Given the description of an element on the screen output the (x, y) to click on. 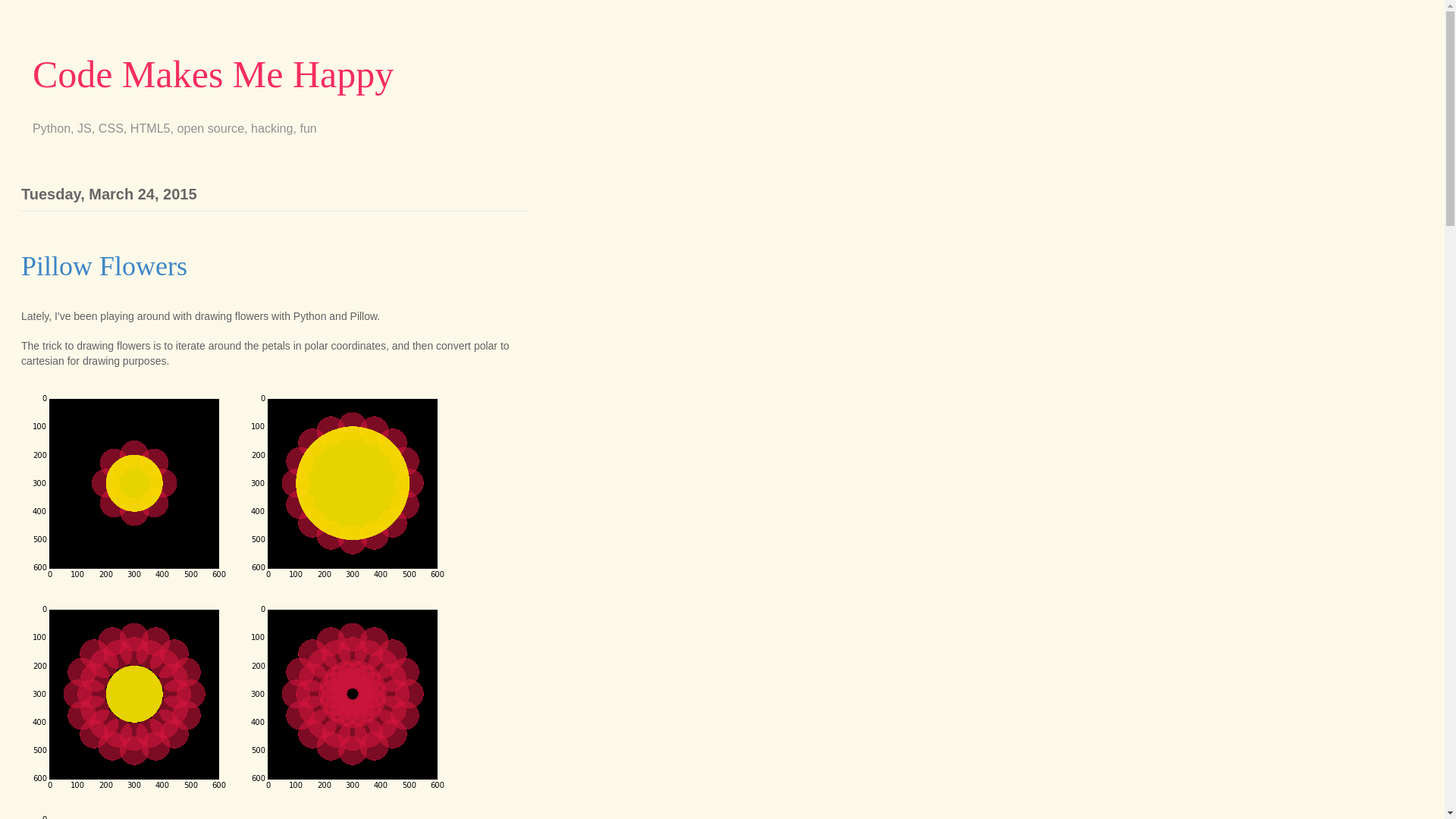
Pillow Flowers (104, 265)
Flower Experiment 1 by Audrey Roy, on Flickr (347, 585)
Flower Experiment 1 by Audrey Roy, on Flickr (128, 585)
Flower Experiment 1 by Audrey Roy, on Flickr (128, 797)
Flower Experiment 1 by Audrey Roy, on Flickr (347, 797)
Code Makes Me Happy (212, 74)
